Given the description of an element on the screen output the (x, y) to click on. 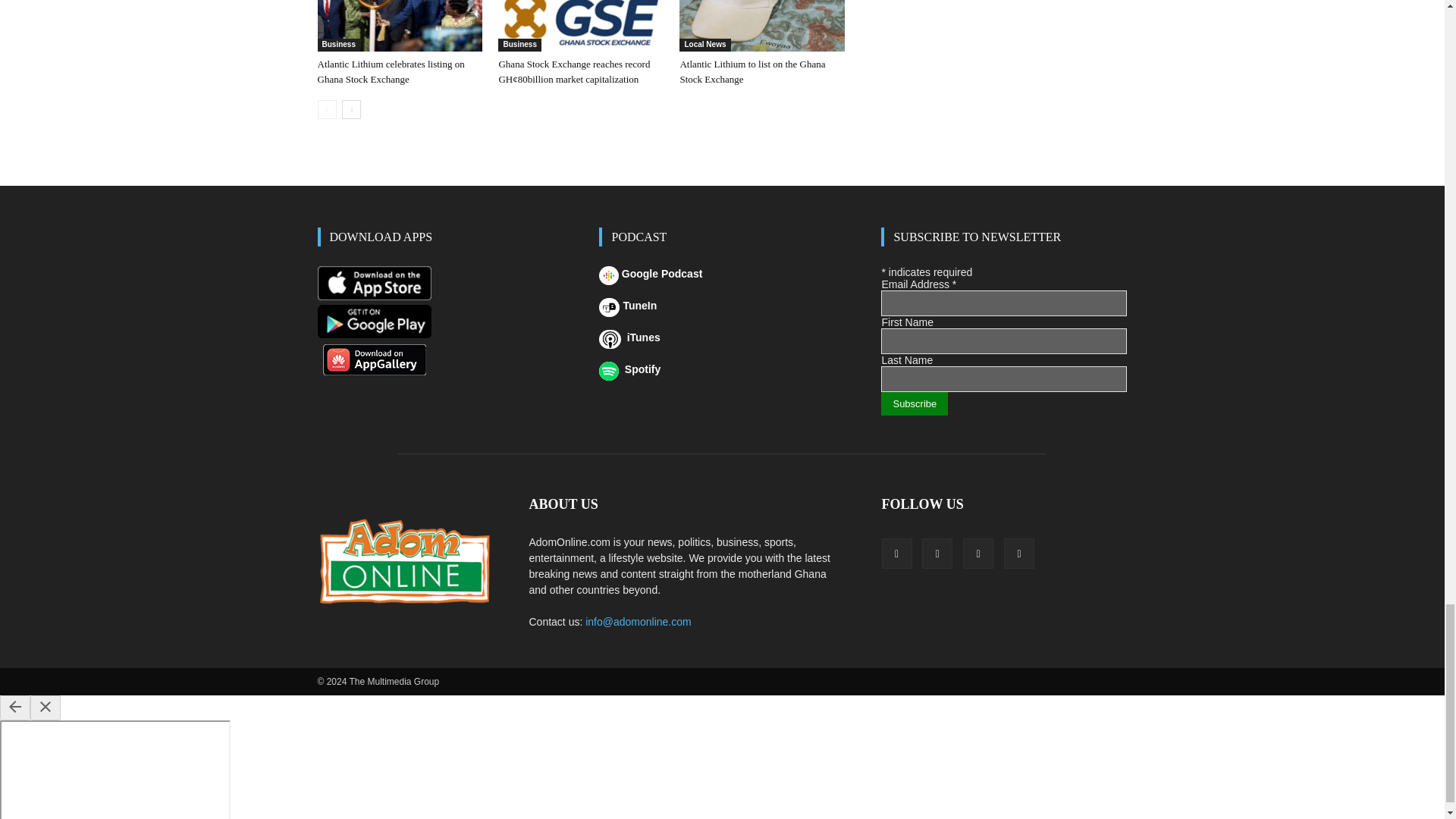
Subscribe (913, 403)
